Given the description of an element on the screen output the (x, y) to click on. 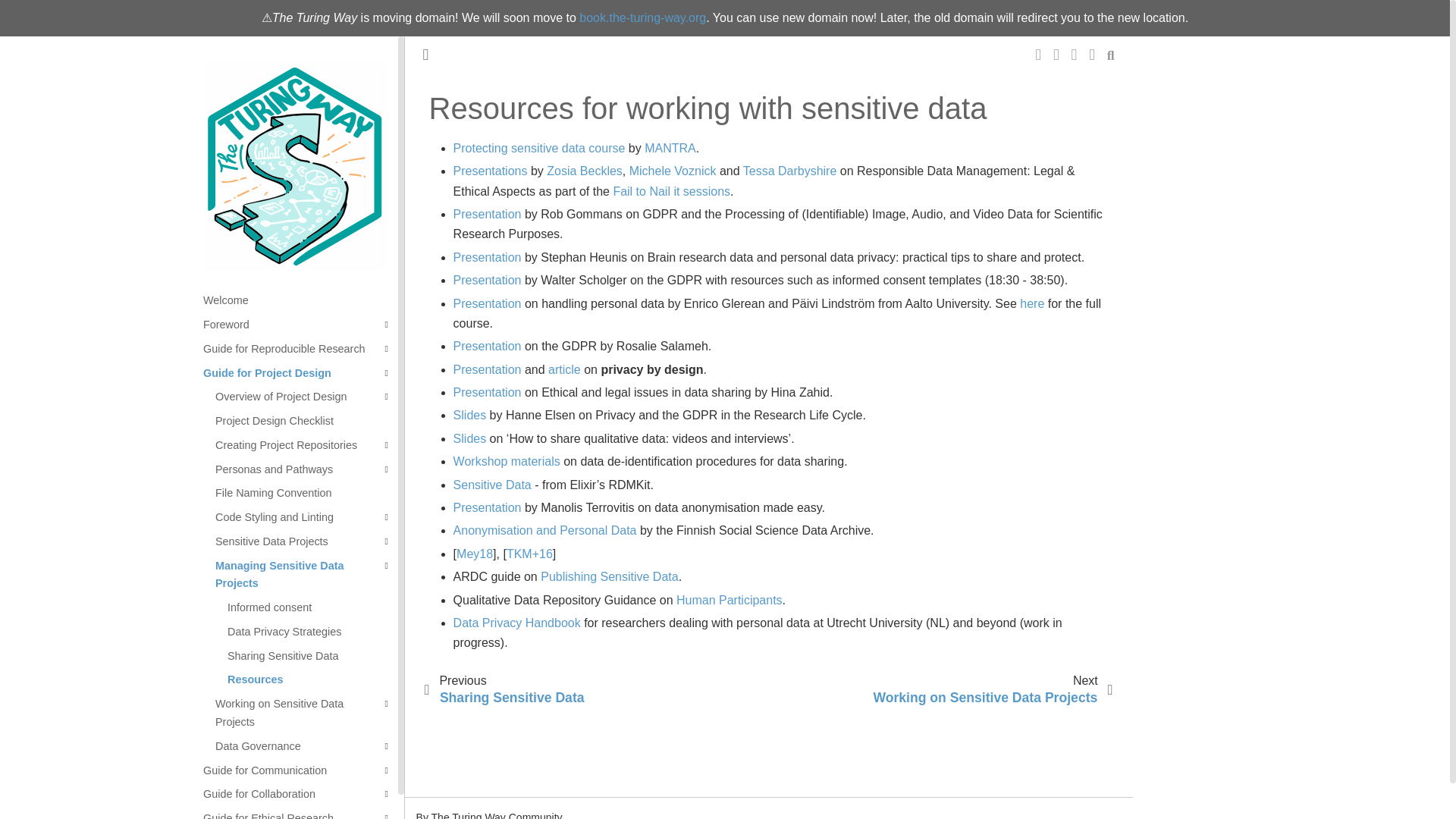
next page (987, 689)
book.the-turing-way.org (642, 17)
previous page (509, 689)
Foreword (300, 324)
Welcome (300, 300)
Guide for Reproducible Research (300, 349)
